Given the description of an element on the screen output the (x, y) to click on. 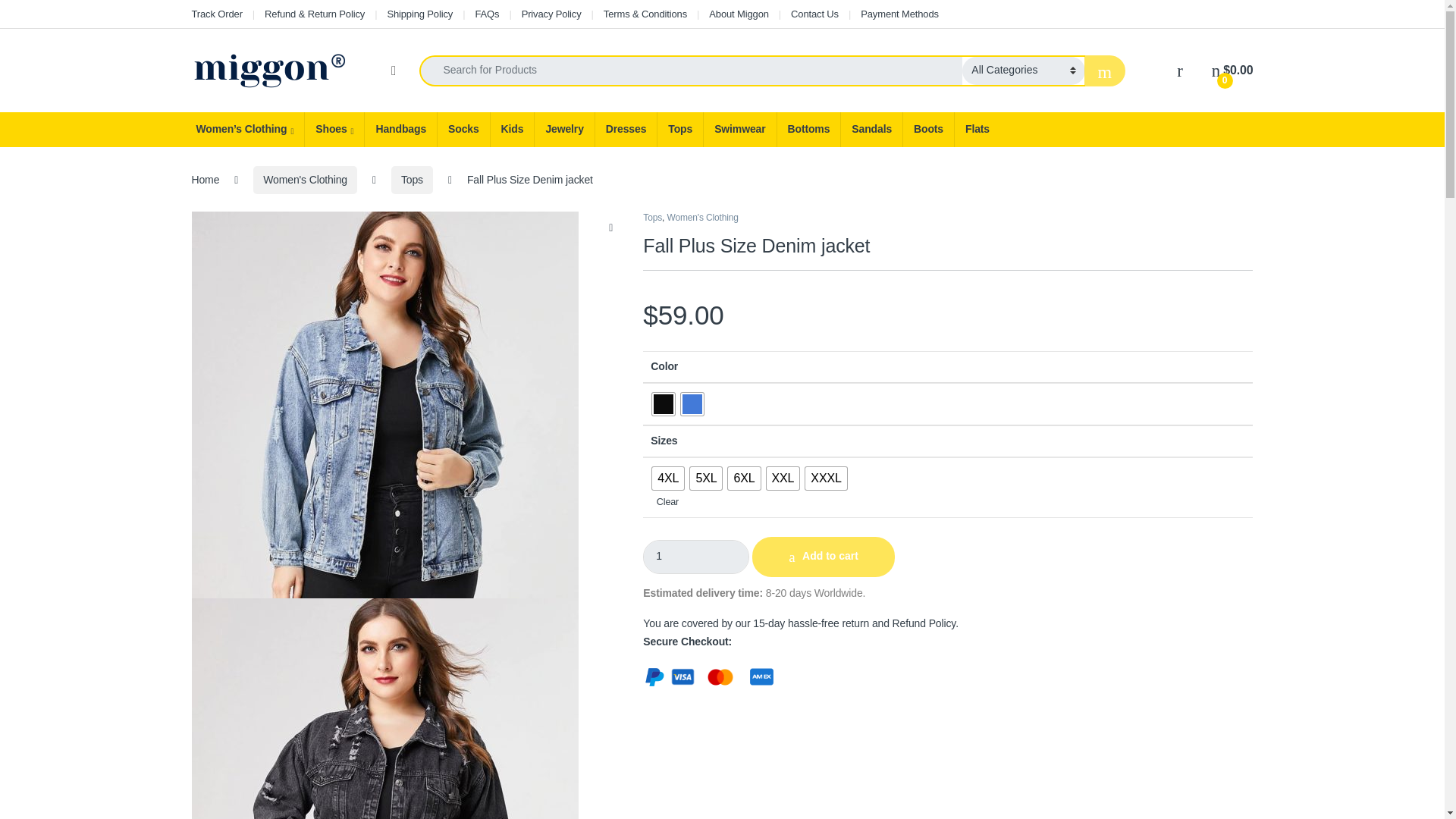
Privacy Policy (550, 13)
Payment Methods (899, 13)
Privacy Policy (550, 13)
Track Order (215, 13)
Shipping Policy (419, 13)
Track Order (215, 13)
Shipping Policy (419, 13)
Payment Methods (899, 13)
Contact Us (814, 13)
About Miggon (738, 13)
About Miggon (738, 13)
Contact Us (814, 13)
1 (696, 556)
